Given the description of an element on the screen output the (x, y) to click on. 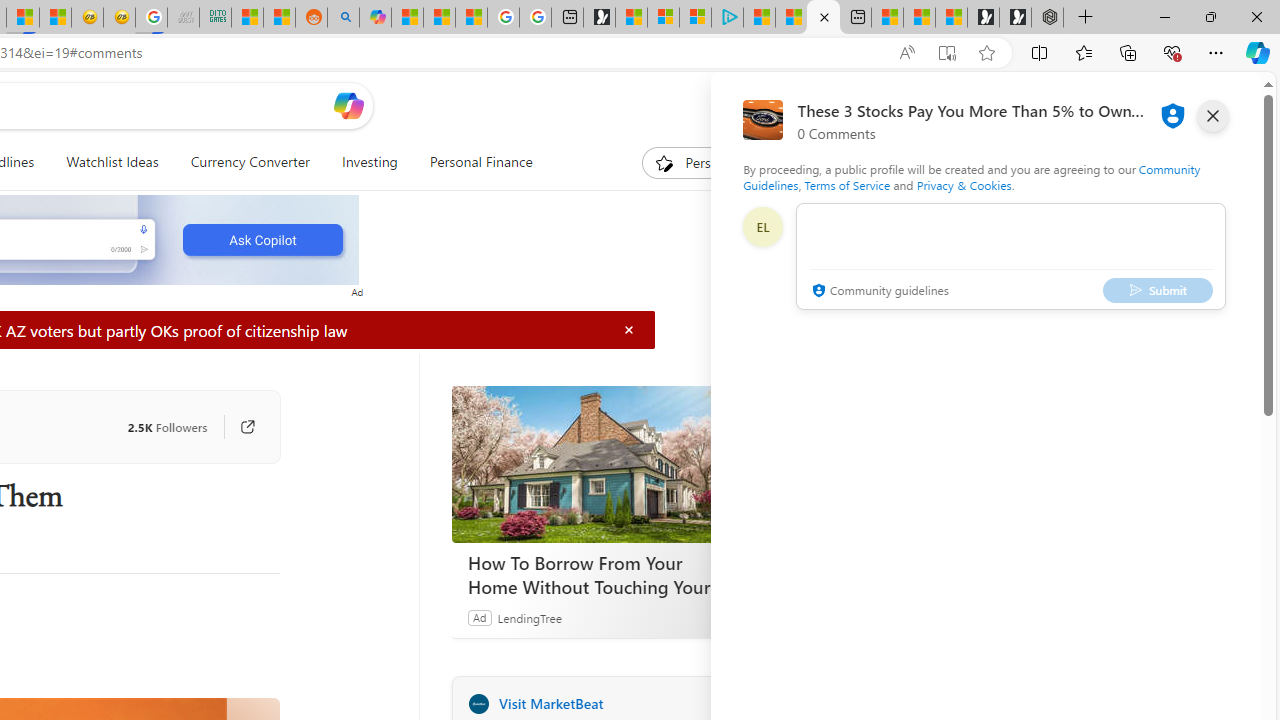
Enter Immersive Reader (F9) (946, 53)
Currency Converter (249, 162)
How To Borrow From Your Home Without Touching Your Mortgage (601, 463)
To get missing image descriptions, open the context menu. (664, 162)
Microsoft rewards (1137, 105)
MarketBeat (478, 703)
Watchlist Ideas (112, 162)
Investing (369, 162)
